Given the description of an element on the screen output the (x, y) to click on. 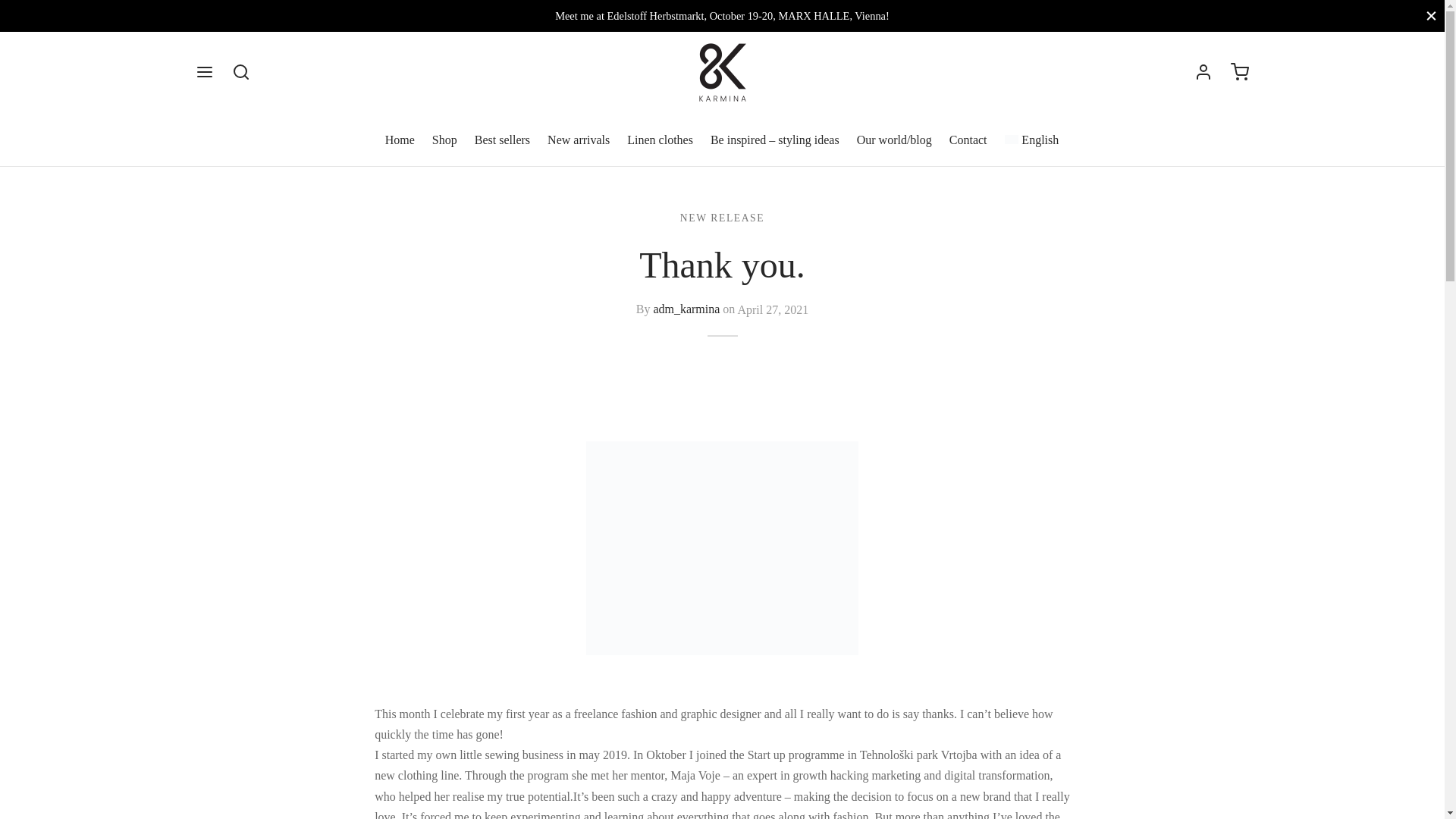
Contact (968, 139)
Best sellers (501, 139)
New arrivals (578, 139)
English (1031, 139)
NEW RELEASE (721, 217)
Linen clothes (660, 139)
Shop (444, 139)
English (1031, 139)
Home (399, 139)
